Given the description of an element on the screen output the (x, y) to click on. 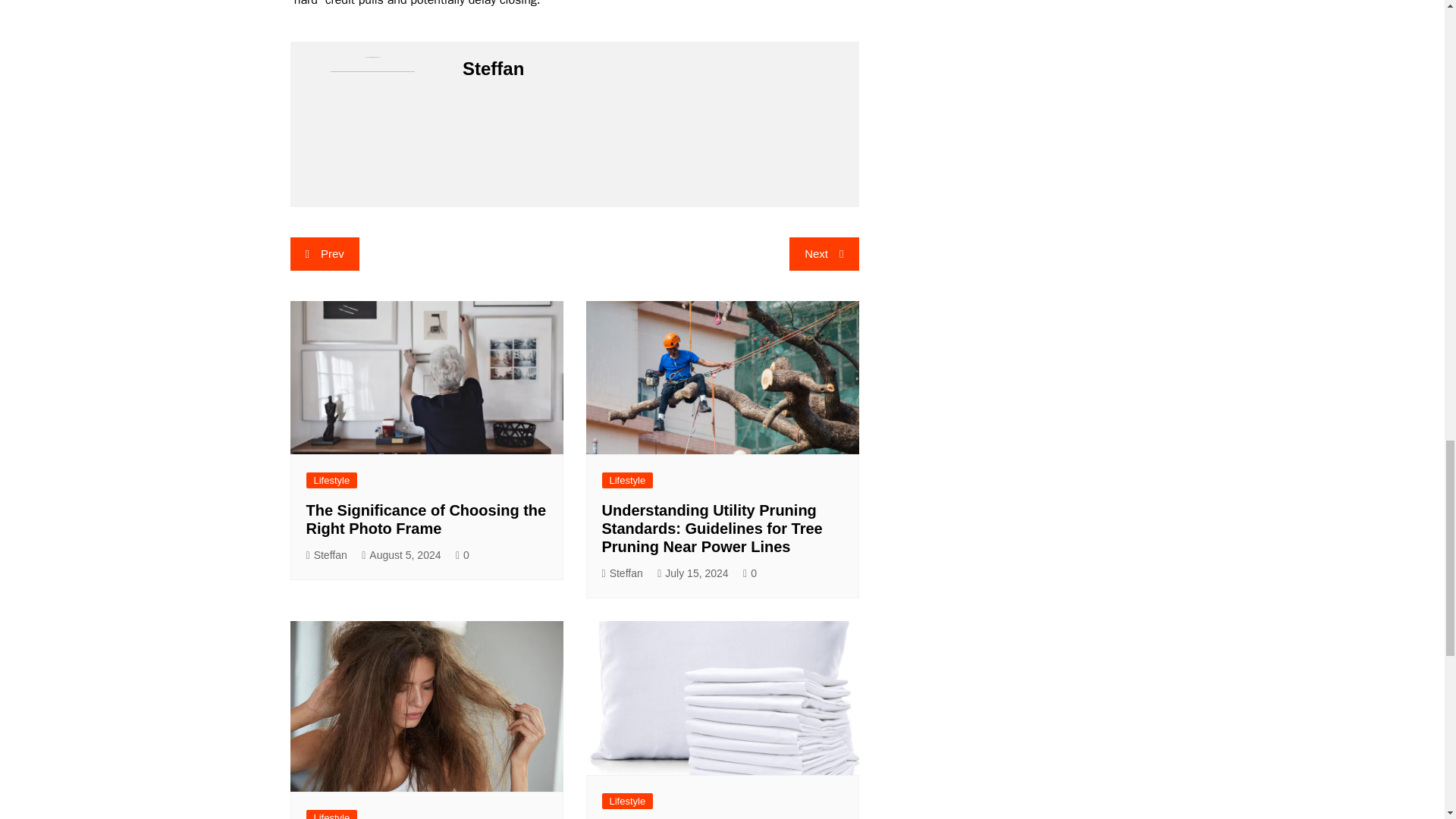
Prev (323, 253)
Next (824, 253)
Lifestyle (331, 814)
The Significance of Choosing the Right Photo Frame (426, 519)
Lifestyle (331, 480)
Steffan (326, 555)
Steffan (622, 573)
July 15, 2024 (693, 573)
August 5, 2024 (401, 555)
